Given the description of an element on the screen output the (x, y) to click on. 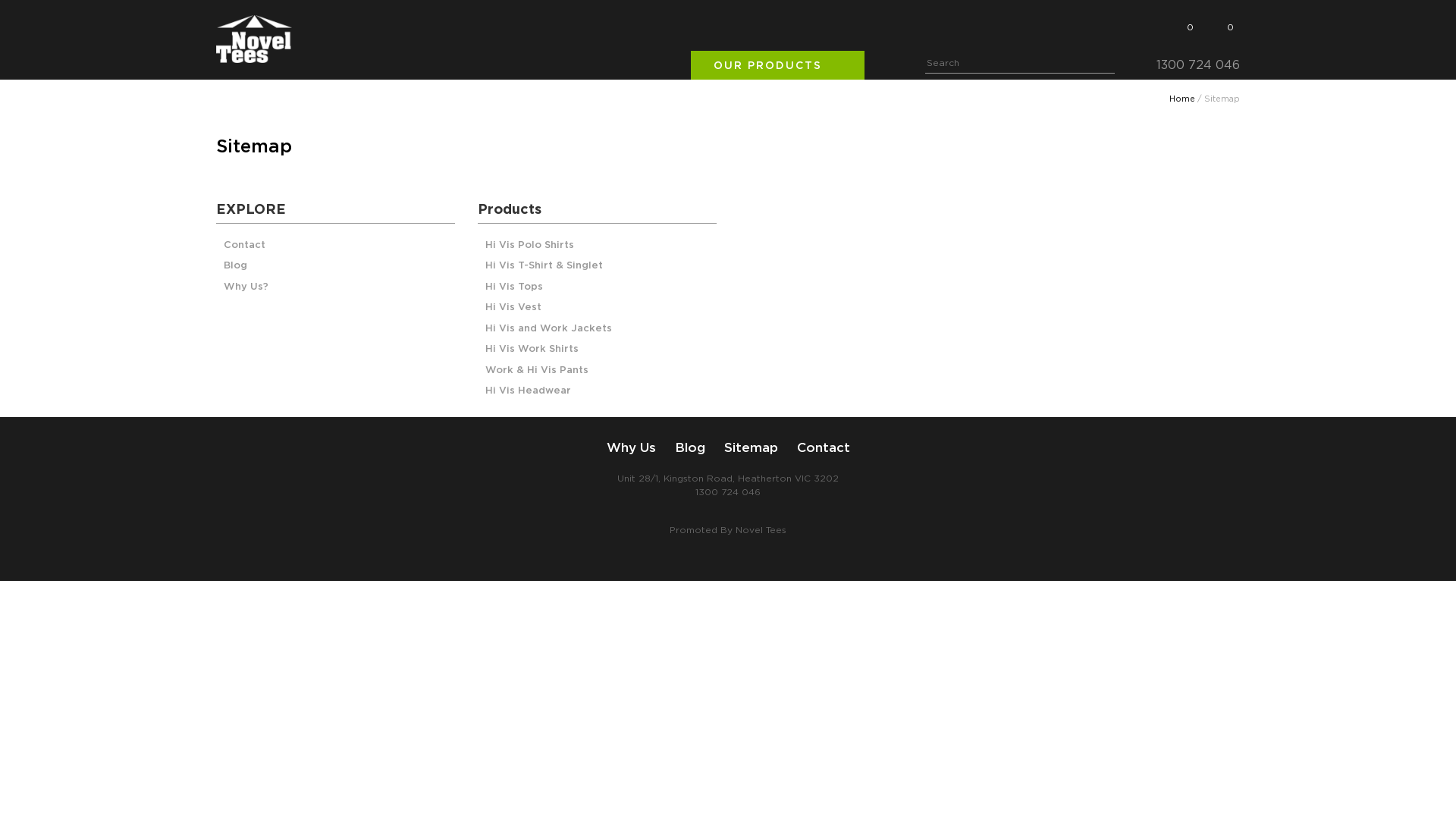
Hi Vis Headwear Element type: text (528, 391)
OUR PRODUCTS Element type: text (777, 64)
Home Element type: text (1182, 98)
Sitemap Element type: text (749, 447)
Why Us? Element type: text (245, 287)
Hi Vis Work Shirts Element type: text (531, 349)
Contact Element type: text (822, 447)
Work & Hi Vis Pants Element type: text (536, 370)
Hi Vis T-Shirt & Singlet Element type: text (543, 266)
Hi Vis Tops Element type: text (513, 287)
Hi Vis and Work Jackets Element type: text (548, 329)
1300 724 046 Element type: text (727, 491)
Hi Vis Polo Shirts Element type: text (529, 245)
Blog Element type: text (689, 447)
Why Us Element type: text (631, 447)
0 Element type: text (1229, 24)
0 Element type: text (1189, 26)
Blog Element type: text (235, 266)
Novel Tees Element type: text (760, 529)
Contact Element type: text (244, 245)
Hi Vis Vest Element type: text (513, 307)
